Given the description of an element on the screen output the (x, y) to click on. 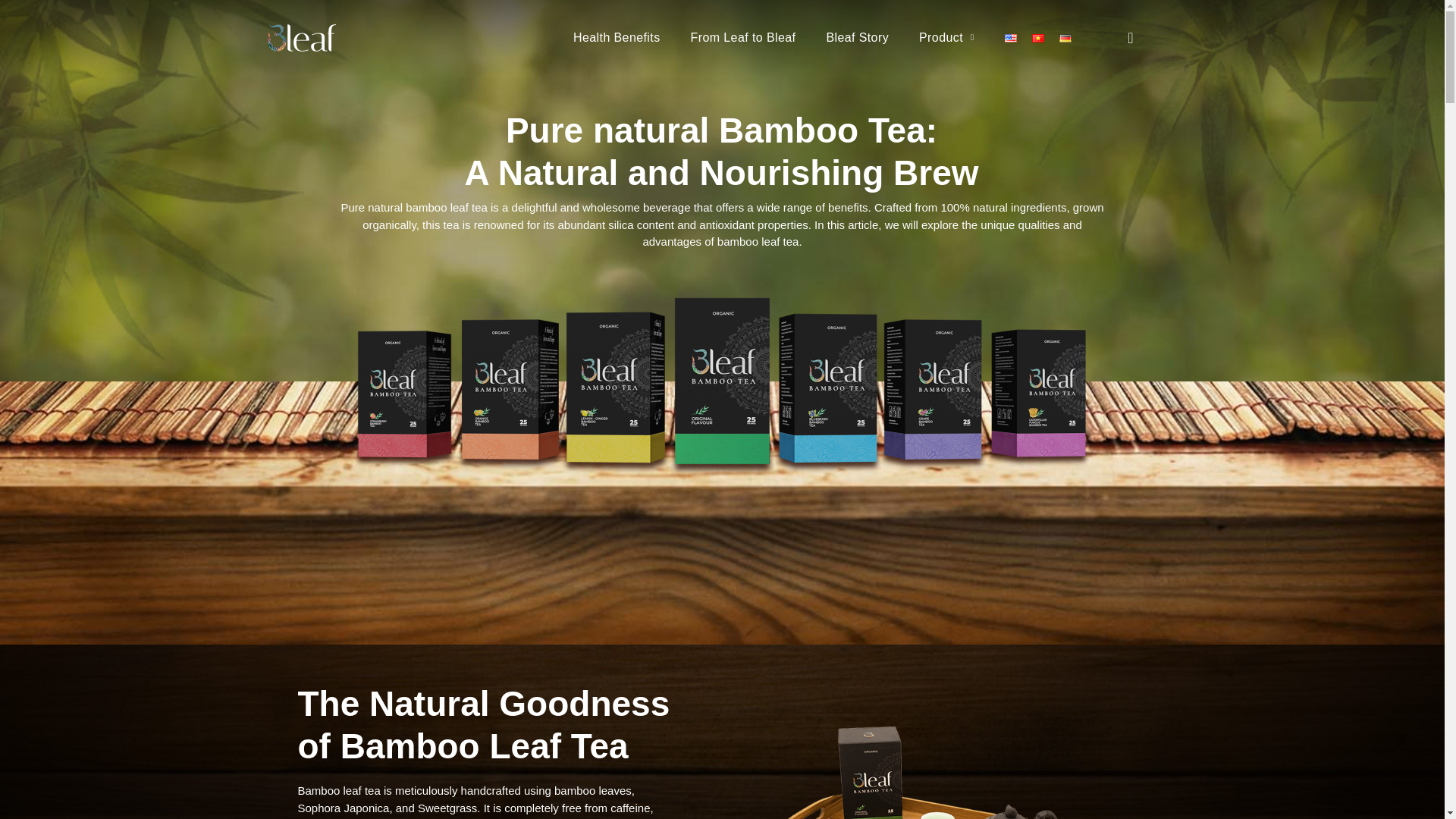
cropped-menu-logo-light.png (300, 38)
Product (946, 38)
From Leaf to Bleaf (742, 38)
Health Benefits (616, 38)
Bleaf Story (857, 38)
